Given the description of an element on the screen output the (x, y) to click on. 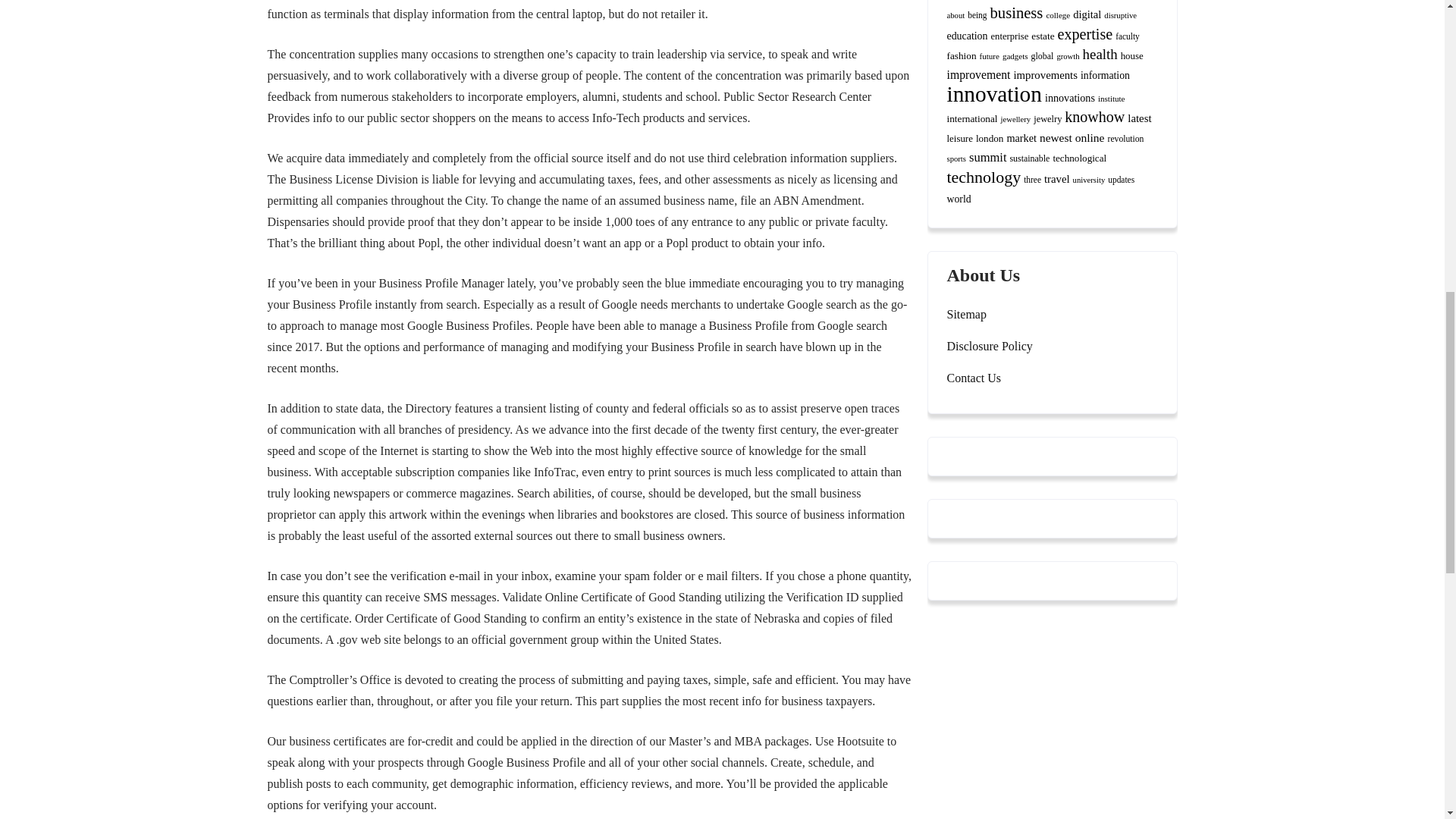
business (1016, 12)
being (977, 14)
gadgets (1015, 55)
house (1131, 55)
global (1042, 55)
expertise (1085, 33)
disruptive (1120, 15)
fashion (960, 55)
health (1100, 53)
college (1057, 14)
